Given the description of an element on the screen output the (x, y) to click on. 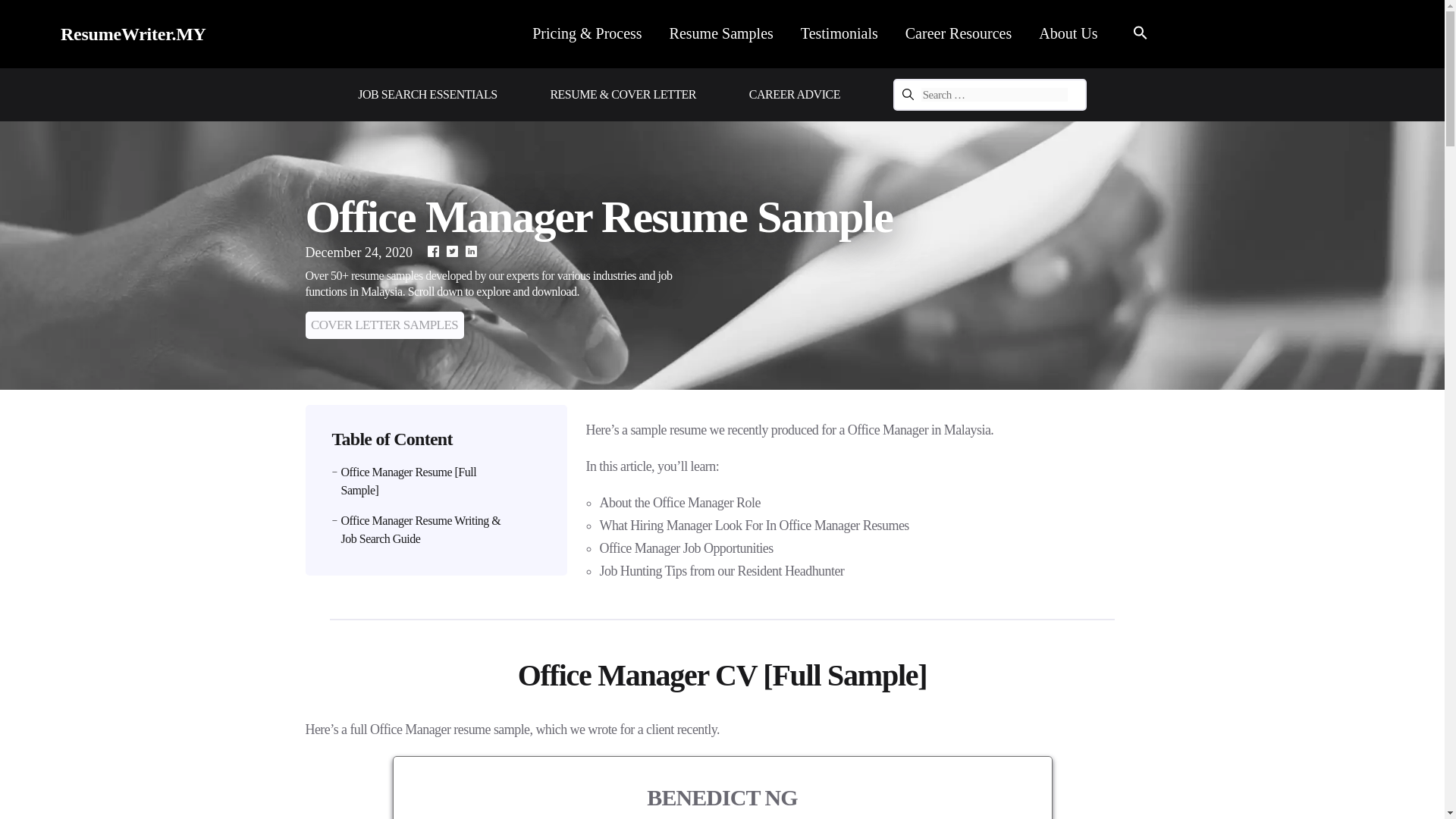
About Us (1068, 33)
Career Resources (958, 33)
ResumeWriter.MY (133, 34)
COVER LETTER SAMPLES (383, 325)
Resume Samples (721, 33)
CAREER ADVICE (794, 93)
JOB SEARCH ESSENTIALS (427, 93)
Testimonials (838, 33)
